Given the description of an element on the screen output the (x, y) to click on. 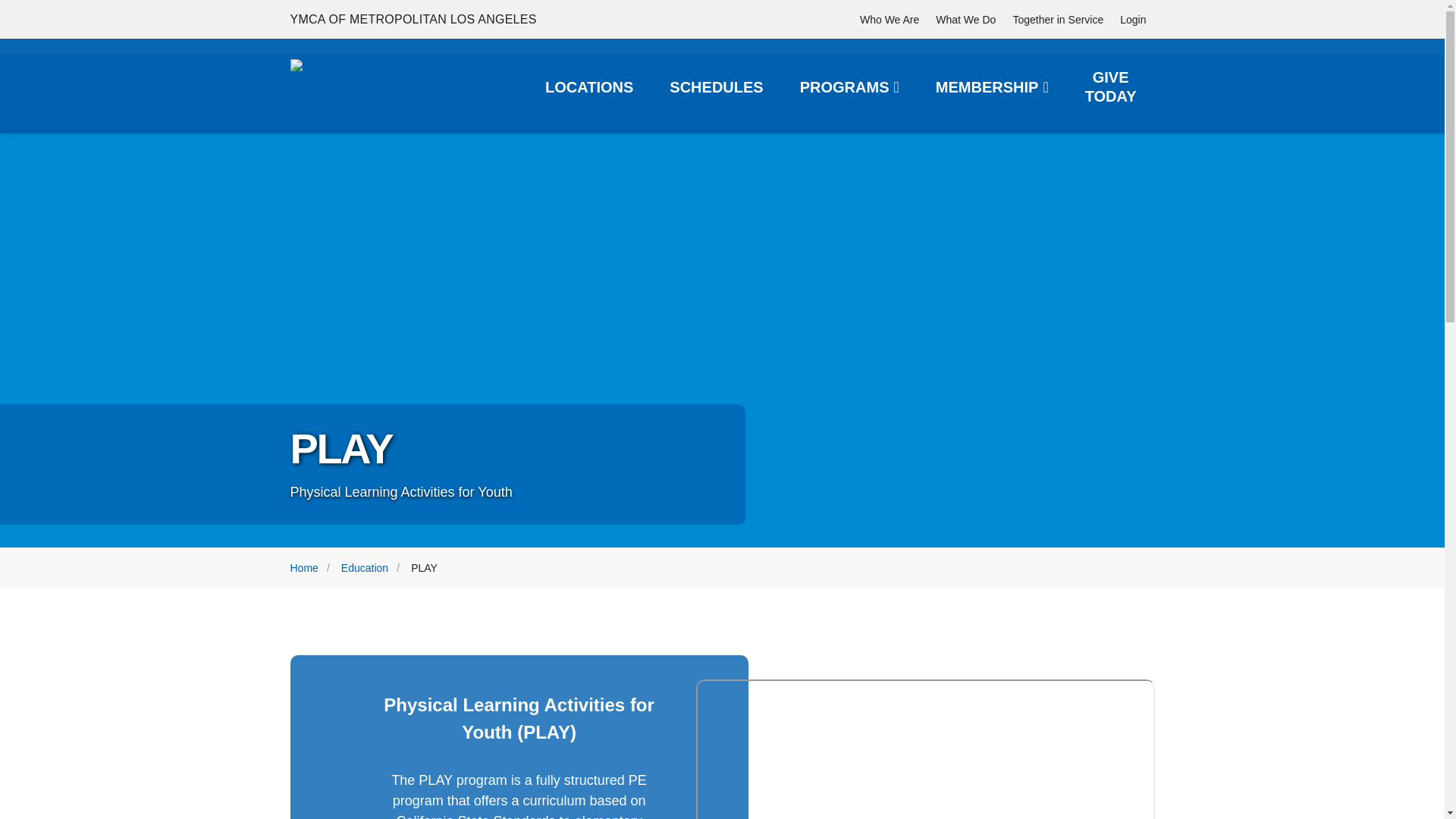
ActiveNet Registration Page (1133, 18)
Our Impact (889, 18)
Volunteer (1058, 18)
YMCA OF METROPOLITAN LOS ANGELES (371, 85)
